Given the description of an element on the screen output the (x, y) to click on. 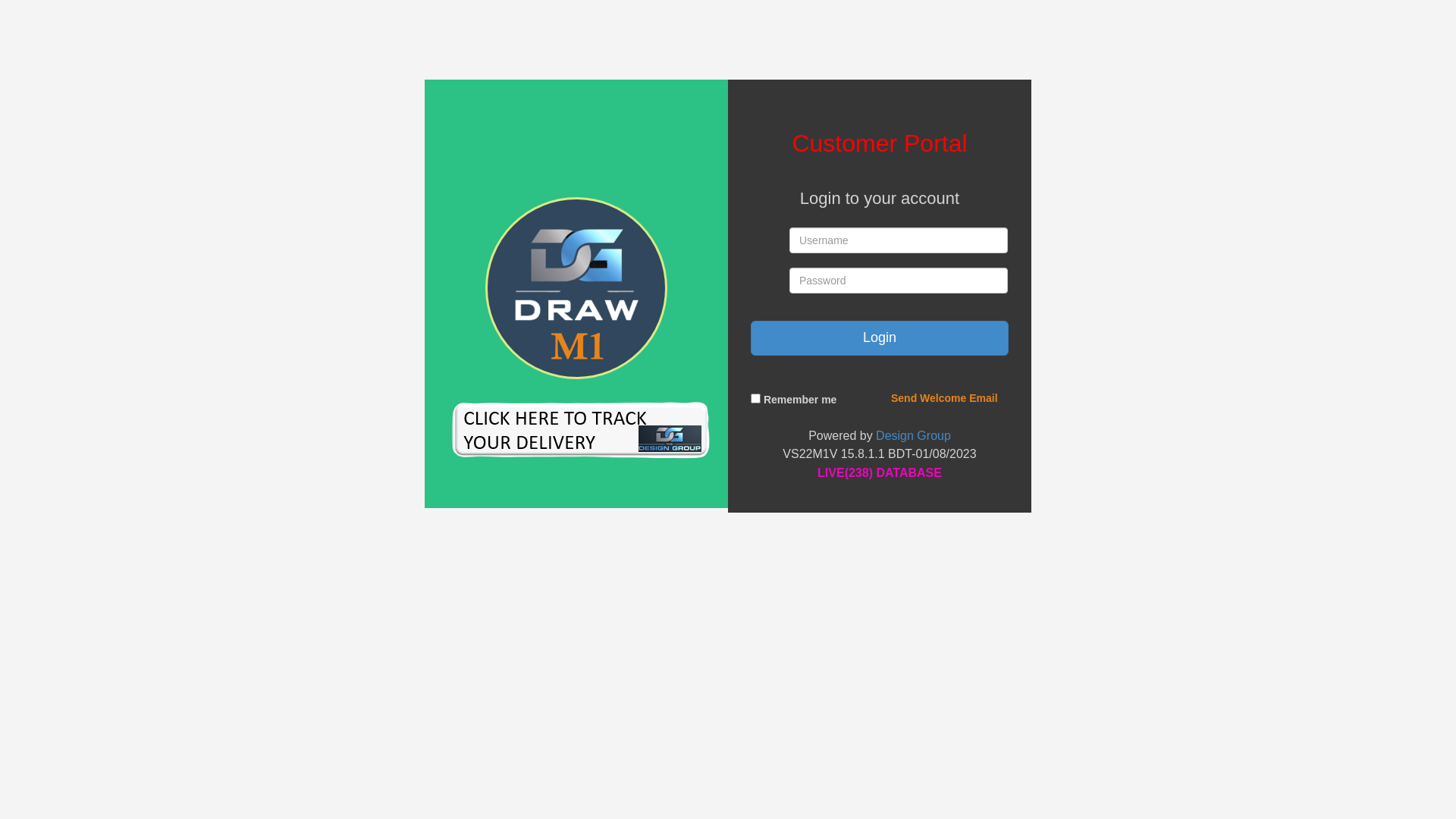
Design Group Element type: text (912, 435)
Login Element type: text (879, 337)
Send Welcome Email Element type: text (944, 398)
